Given the description of an element on the screen output the (x, y) to click on. 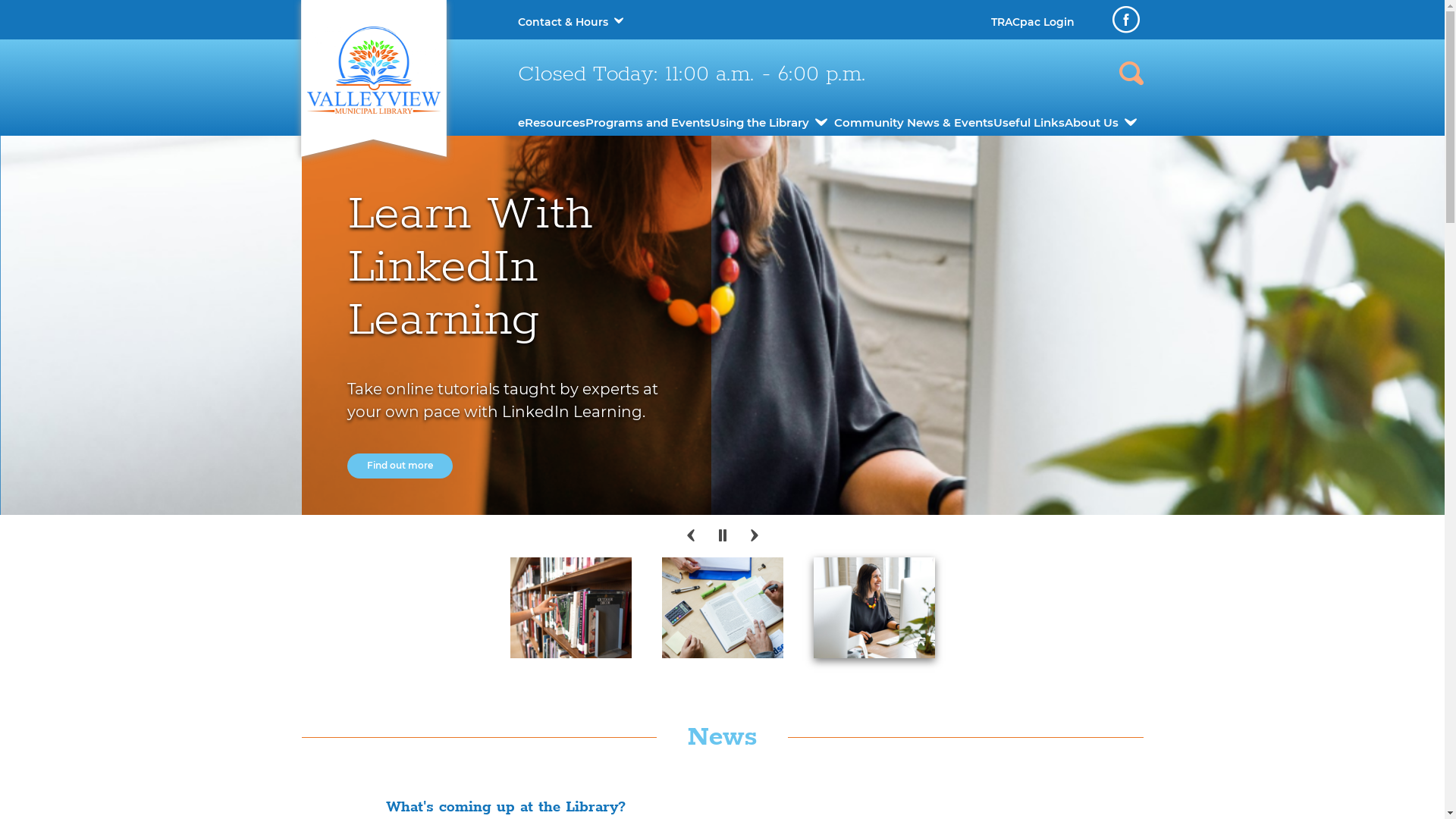
Valleyview Municipal Library Element type: hover (372, 69)
Find out more Element type: text (399, 465)
About Us Element type: text (1091, 122)
eResources Element type: text (550, 122)
Programs and Events Element type: text (647, 122)
Contact & Hours Element type: text (562, 21)
Using the Library Element type: text (759, 122)
TRACpac Login Element type: text (1031, 21)
Useful Links Element type: text (1028, 122)
Facebook Element type: hover (1125, 19)
Community News & Events Element type: text (913, 122)
